Given the description of an element on the screen output the (x, y) to click on. 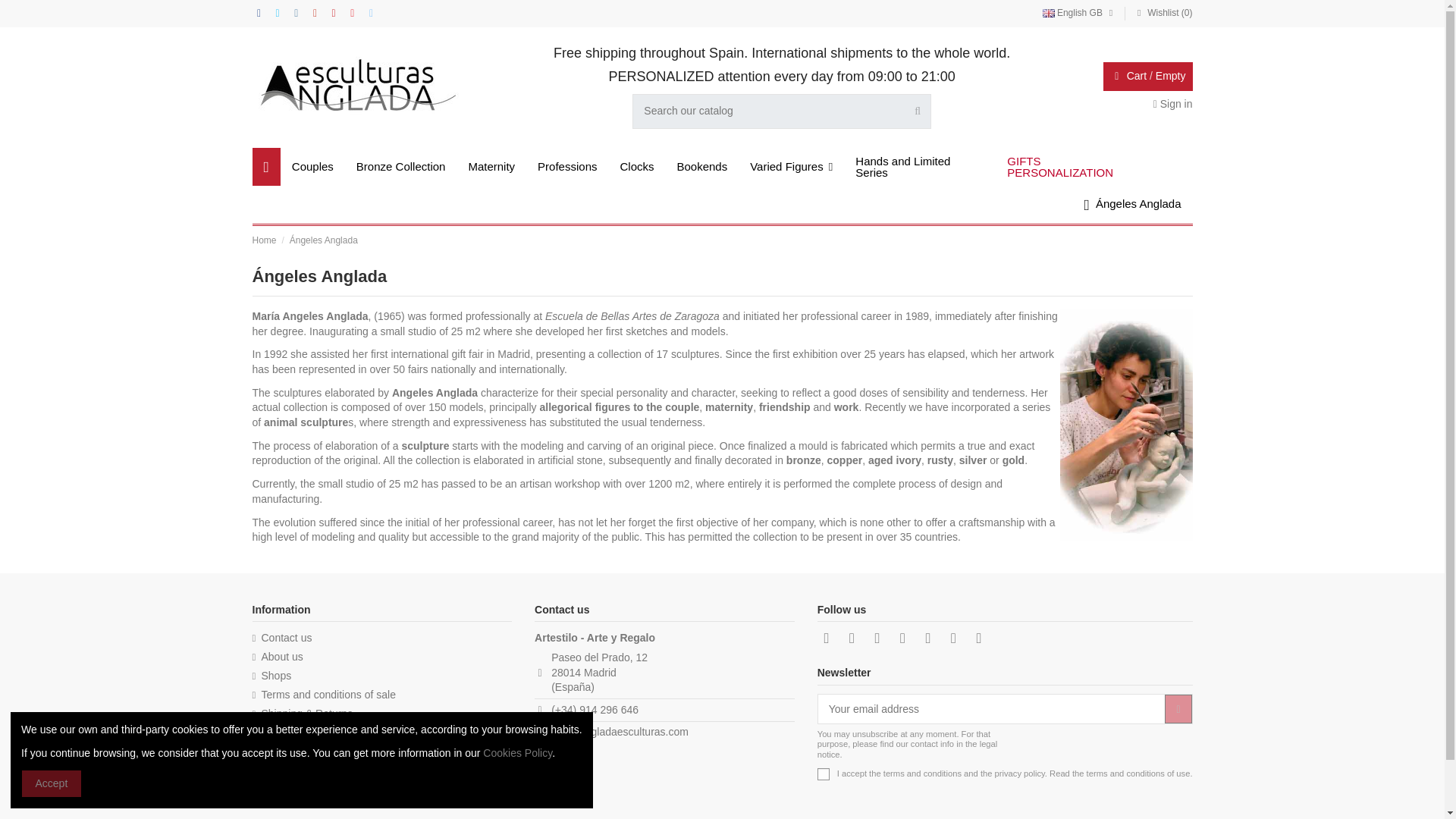
Maternity (491, 166)
Clocks (636, 166)
Privacy policy of our Anglada Esculturas online store. (292, 771)
Bronze Collection (401, 166)
Couples (313, 166)
GIFTS PERSONALIZATION (1071, 166)
Use our form to get in touch with us. (281, 638)
Sign in (1172, 103)
English GB (1079, 12)
Our terms and conditions of sale of Anglada Sculptures (322, 694)
Find out more about our store Anglada Escultura (276, 657)
Legal notice of our website Anglada Esculturas (288, 734)
Professions (566, 166)
